Given the description of an element on the screen output the (x, y) to click on. 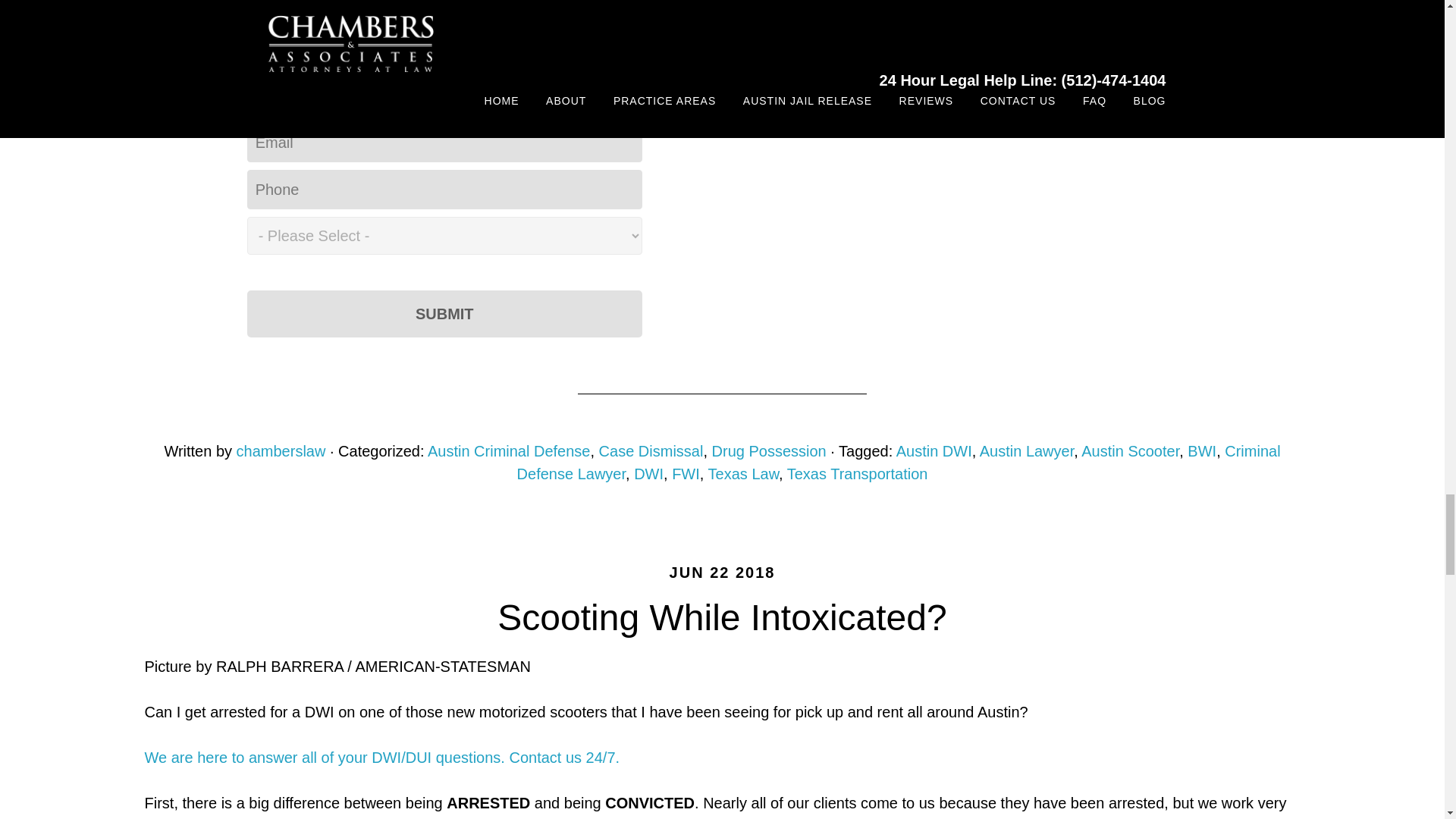
Submit (444, 313)
